Given the description of an element on the screen output the (x, y) to click on. 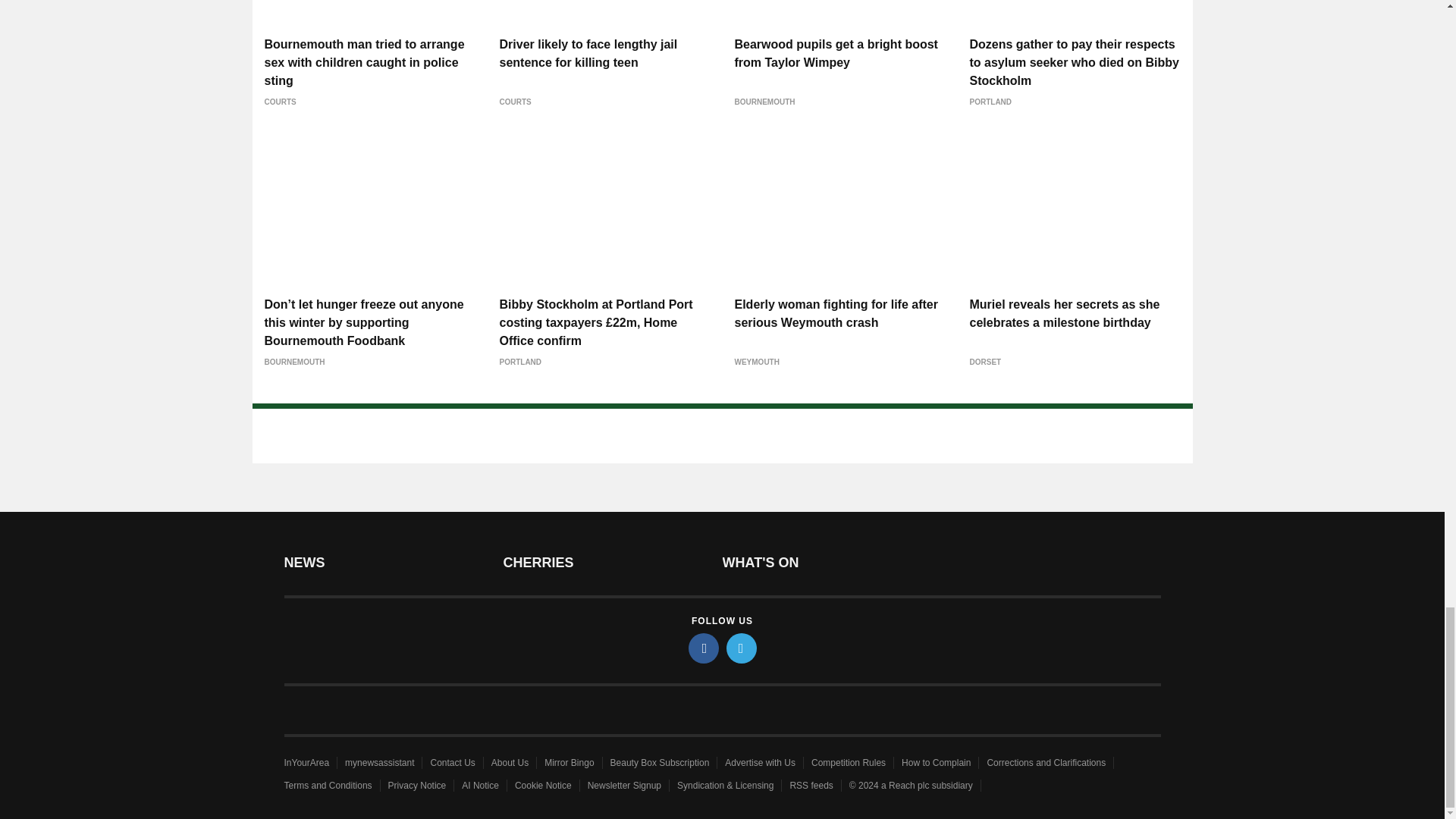
twitter (741, 648)
facebook (703, 648)
